Given the description of an element on the screen output the (x, y) to click on. 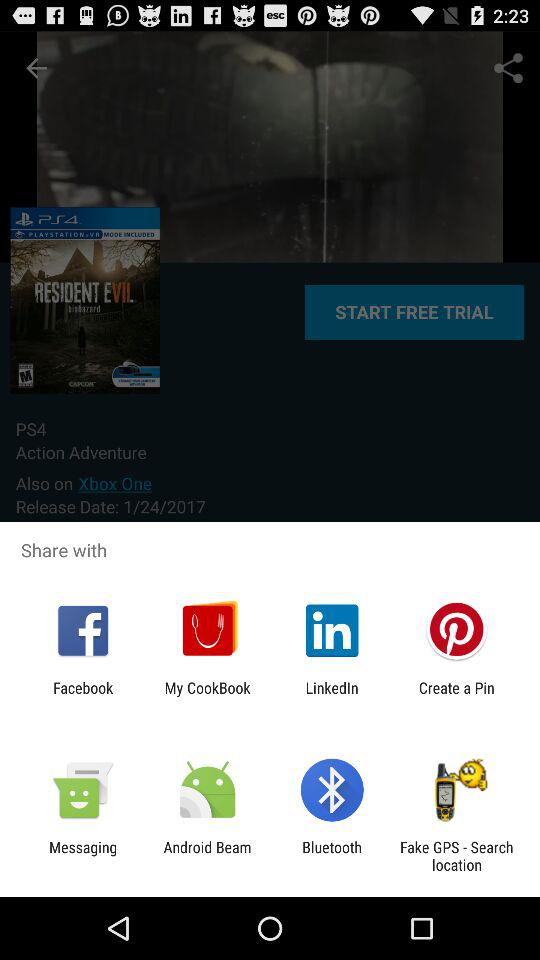
press icon next to my cookbook icon (331, 696)
